Given the description of an element on the screen output the (x, y) to click on. 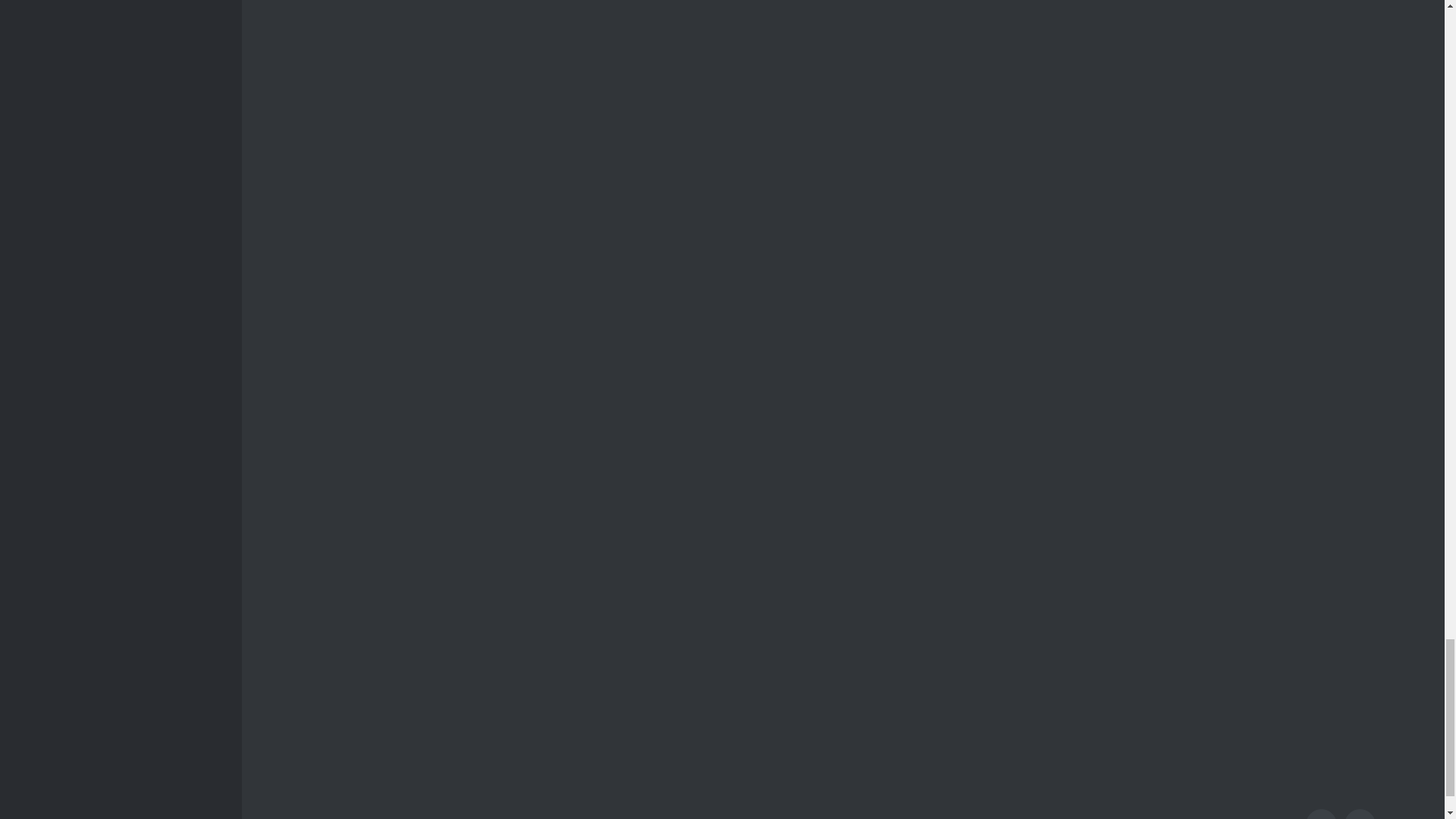
Facebook (1321, 814)
Facebook (1321, 814)
Vimeo (1359, 814)
Vimeo (1359, 814)
